Given the description of an element on the screen output the (x, y) to click on. 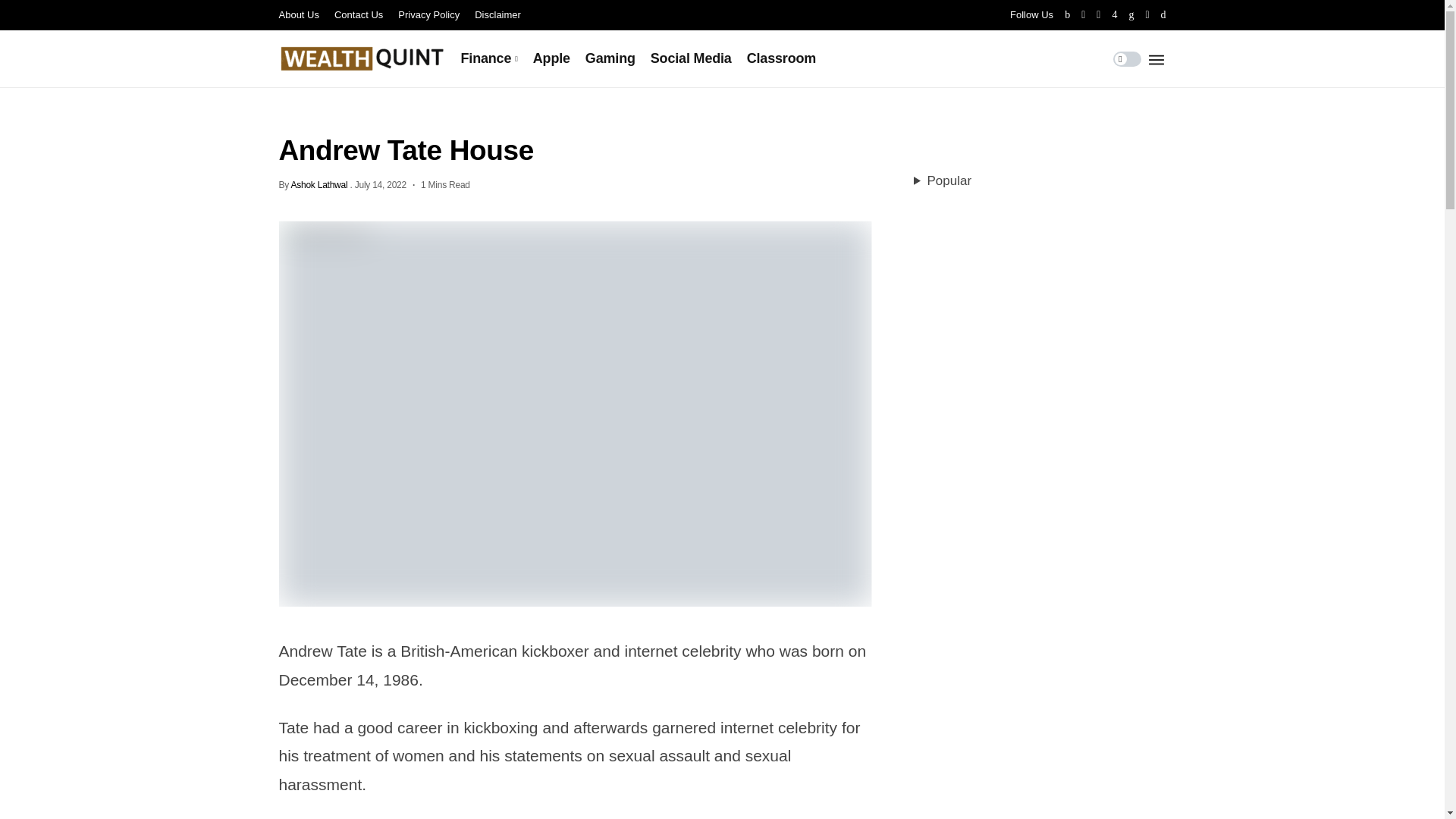
Privacy Policy (428, 15)
Posts by Ashok Lathwal (318, 184)
Gaming (609, 58)
Contact Us (358, 15)
Apple (551, 58)
Classroom (780, 58)
About Us (298, 15)
Finance (489, 58)
Disclaimer (497, 15)
Social Media (691, 58)
